Given the description of an element on the screen output the (x, y) to click on. 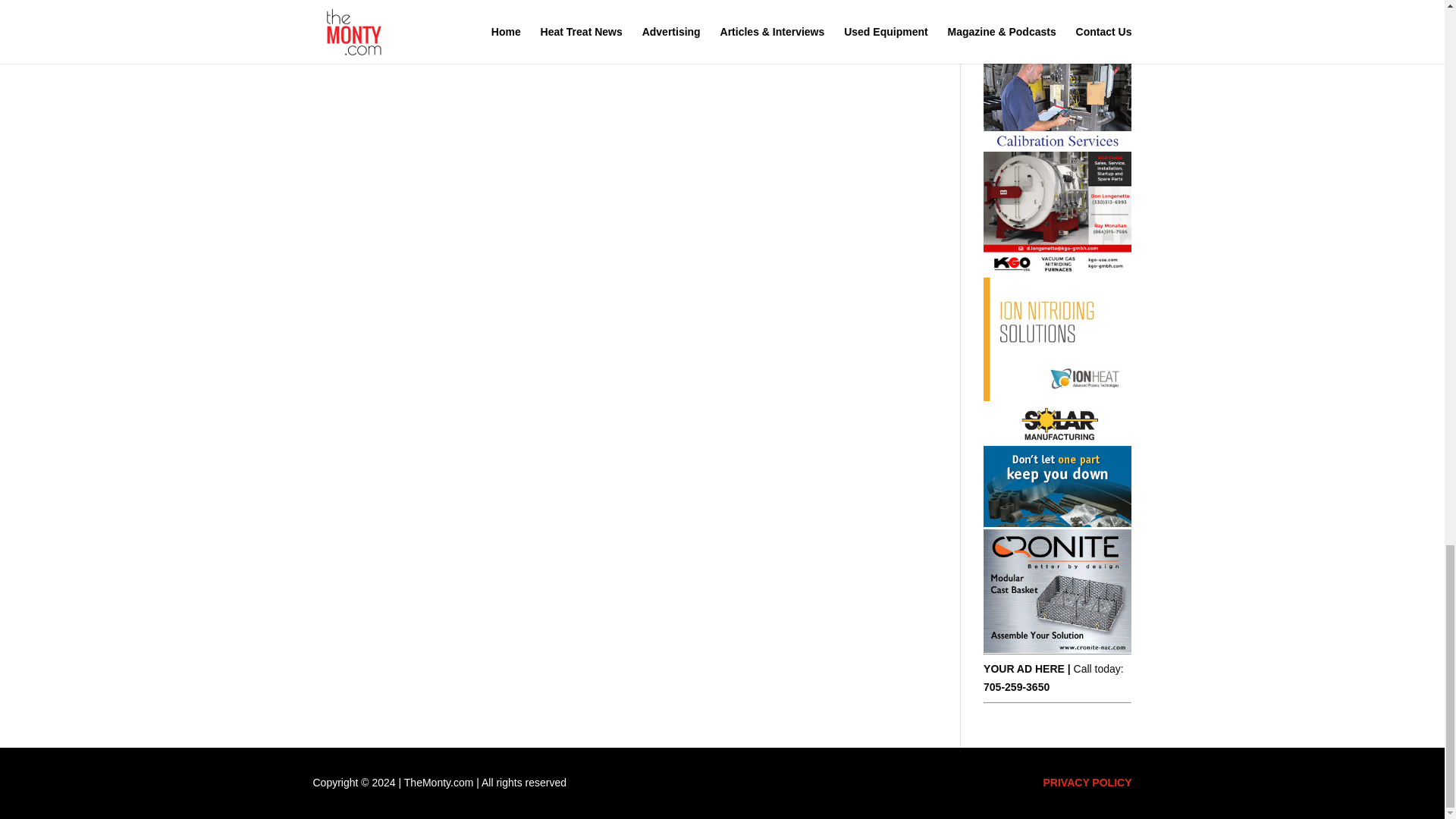
PRIVACY POLICY (1087, 782)
